Given the description of an element on the screen output the (x, y) to click on. 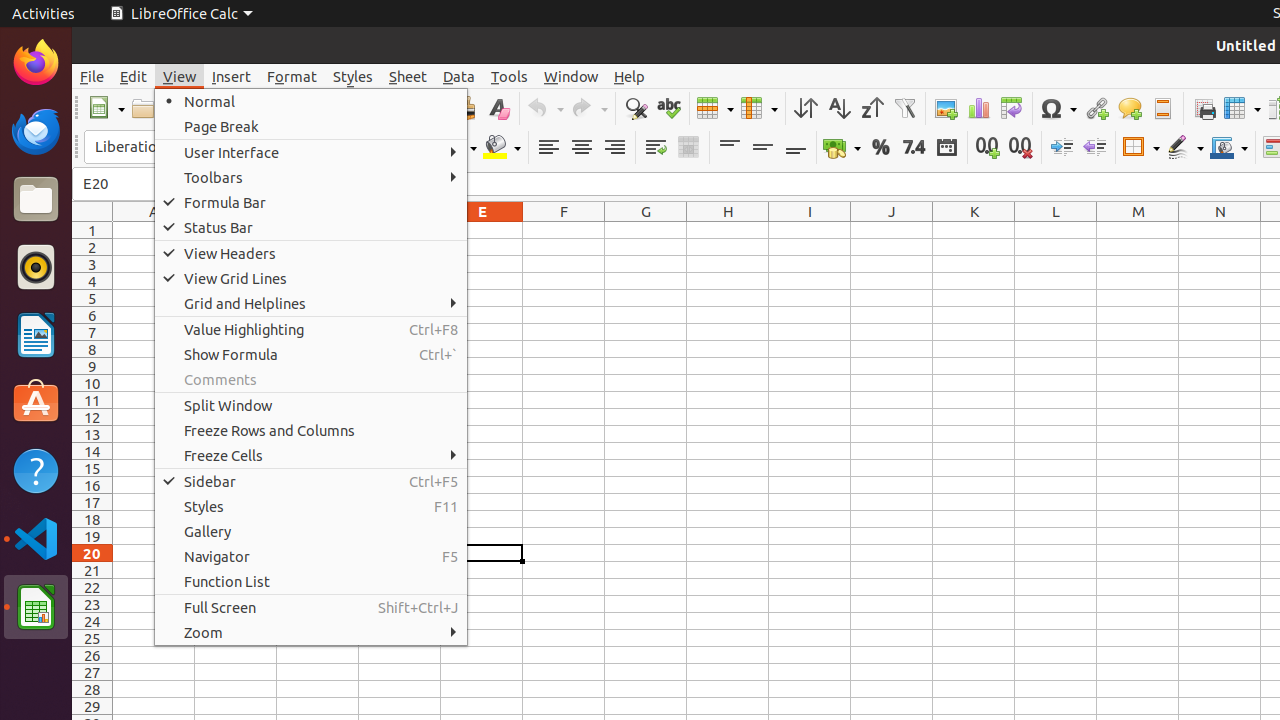
Help Element type: push-button (36, 470)
Edit Element type: menu (133, 76)
L1 Element type: table-cell (1056, 230)
AutoFilter Element type: push-button (904, 108)
Center Vertically Element type: push-button (762, 147)
